Given the description of an element on the screen output the (x, y) to click on. 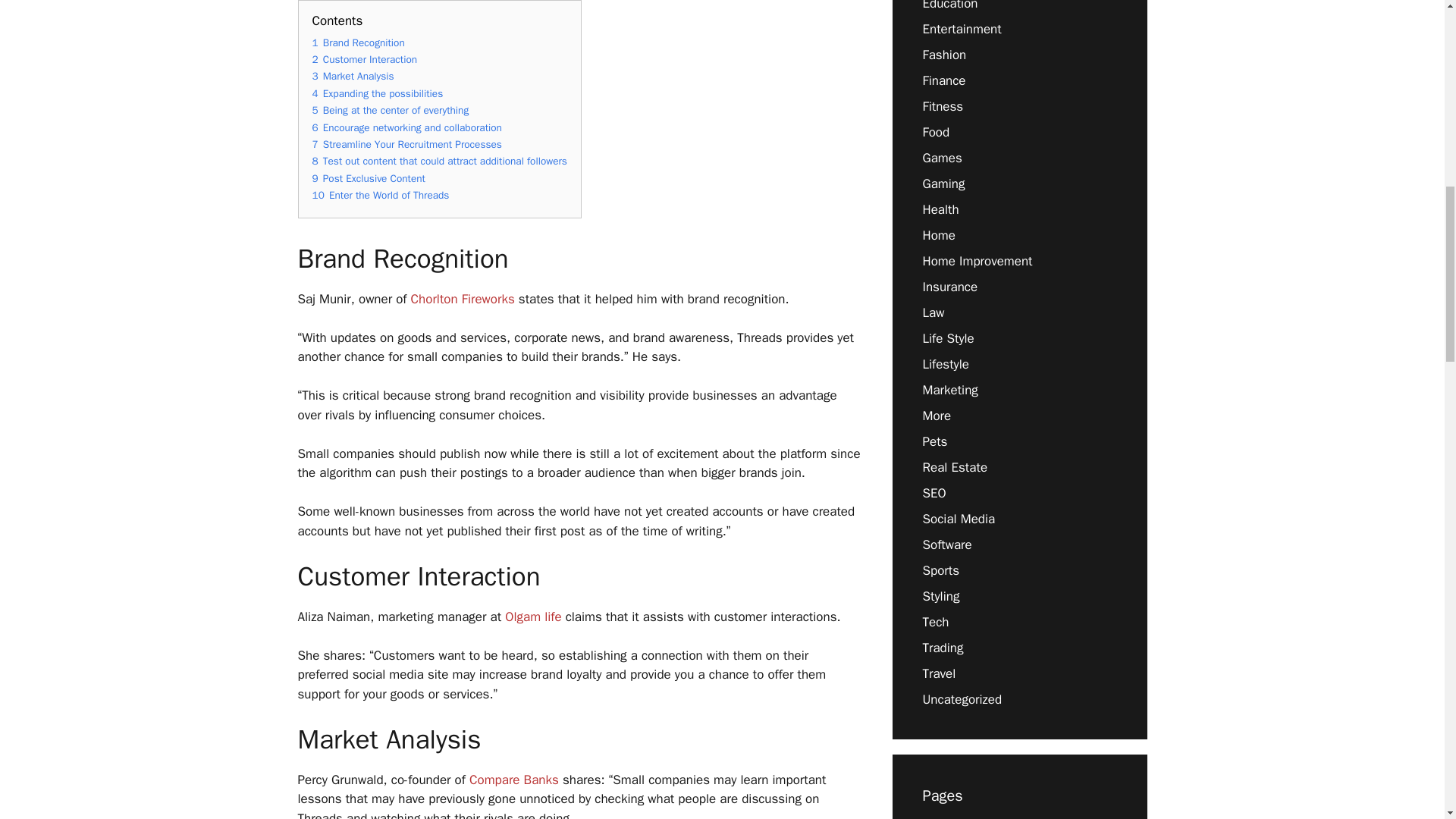
5 Being at the center of everything (390, 110)
7 Streamline Your Recruitment Processes (407, 144)
6 Encourage networking and collaboration (407, 127)
Olgam life (532, 616)
2 Customer Interaction (365, 59)
1 Brand Recognition (358, 42)
Chorlton Fireworks (462, 299)
Compare Banks (513, 779)
3 Market Analysis (353, 75)
9 Post Exclusive Content (369, 178)
